Given the description of an element on the screen output the (x, y) to click on. 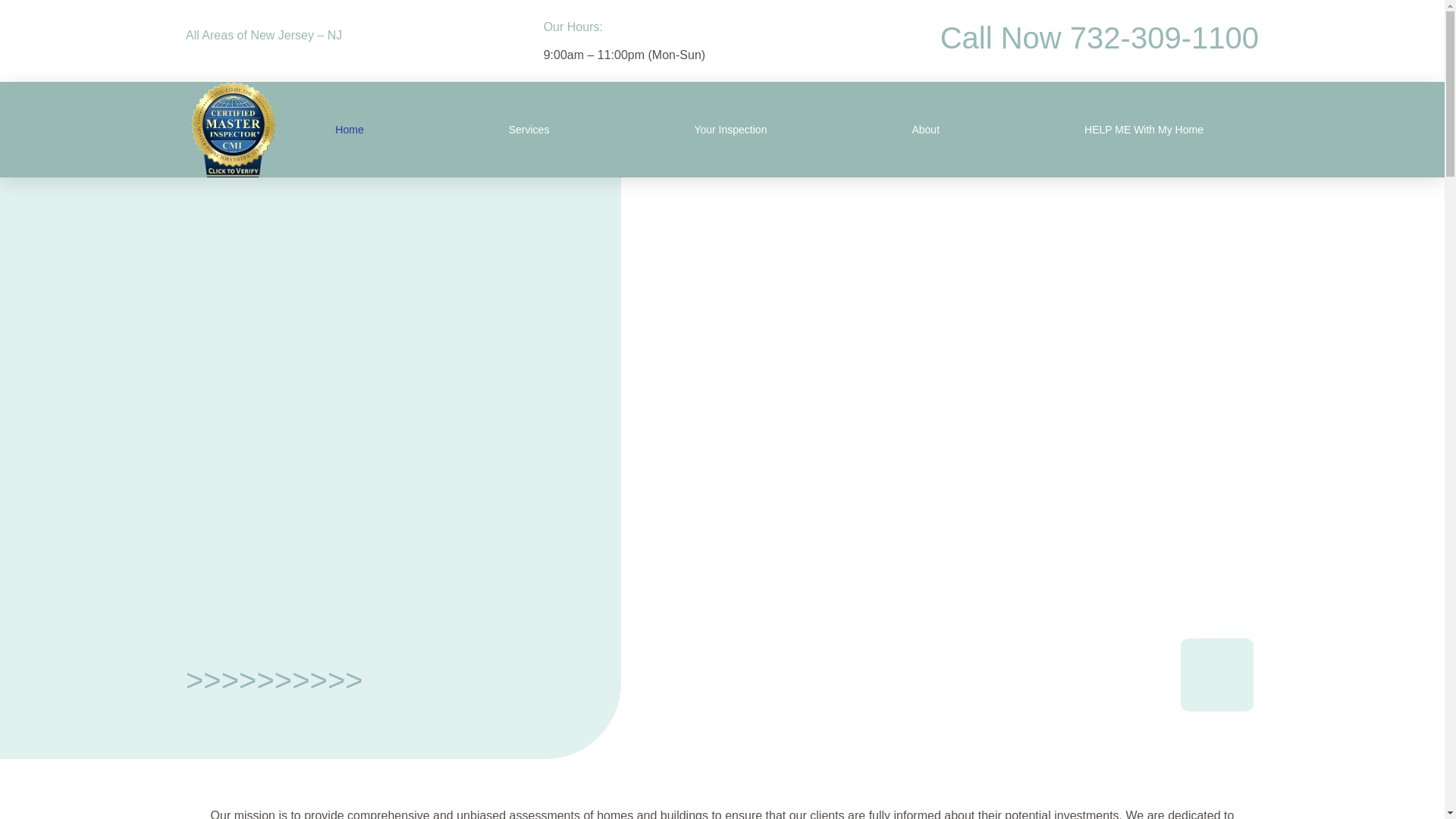
Services (529, 129)
Your Inspection (730, 129)
About (925, 129)
HELP ME With My Home (1143, 129)
Home (349, 129)
